Given the description of an element on the screen output the (x, y) to click on. 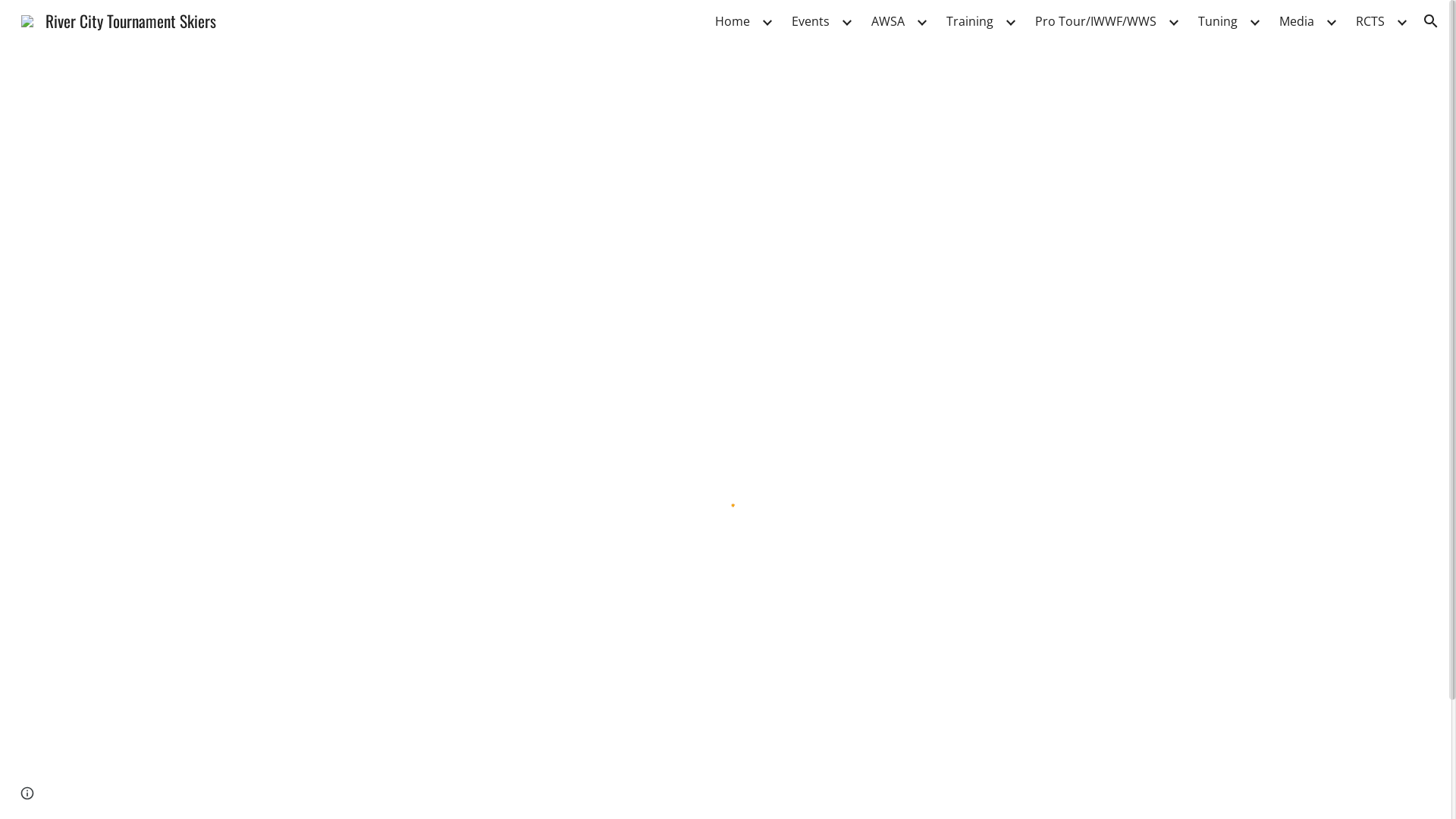
AWSA Element type: text (887, 20)
Expand/Collapse Element type: hover (1172, 20)
Events Element type: text (810, 20)
Expand/Collapse Element type: hover (921, 20)
Expand/Collapse Element type: hover (1330, 20)
Expand/Collapse Element type: hover (846, 20)
River City Tournament Skiers Element type: text (118, 18)
Training Element type: text (969, 20)
Expand/Collapse Element type: hover (1401, 20)
Expand/Collapse Element type: hover (766, 20)
Expand/Collapse Element type: hover (1009, 20)
Media Element type: text (1296, 20)
RCTS Element type: text (1370, 20)
Expand/Collapse Element type: hover (1254, 20)
Home Element type: text (732, 20)
Pro Tour/IWWF/WWS Element type: text (1095, 20)
Tuning Element type: text (1217, 20)
